Given the description of an element on the screen output the (x, y) to click on. 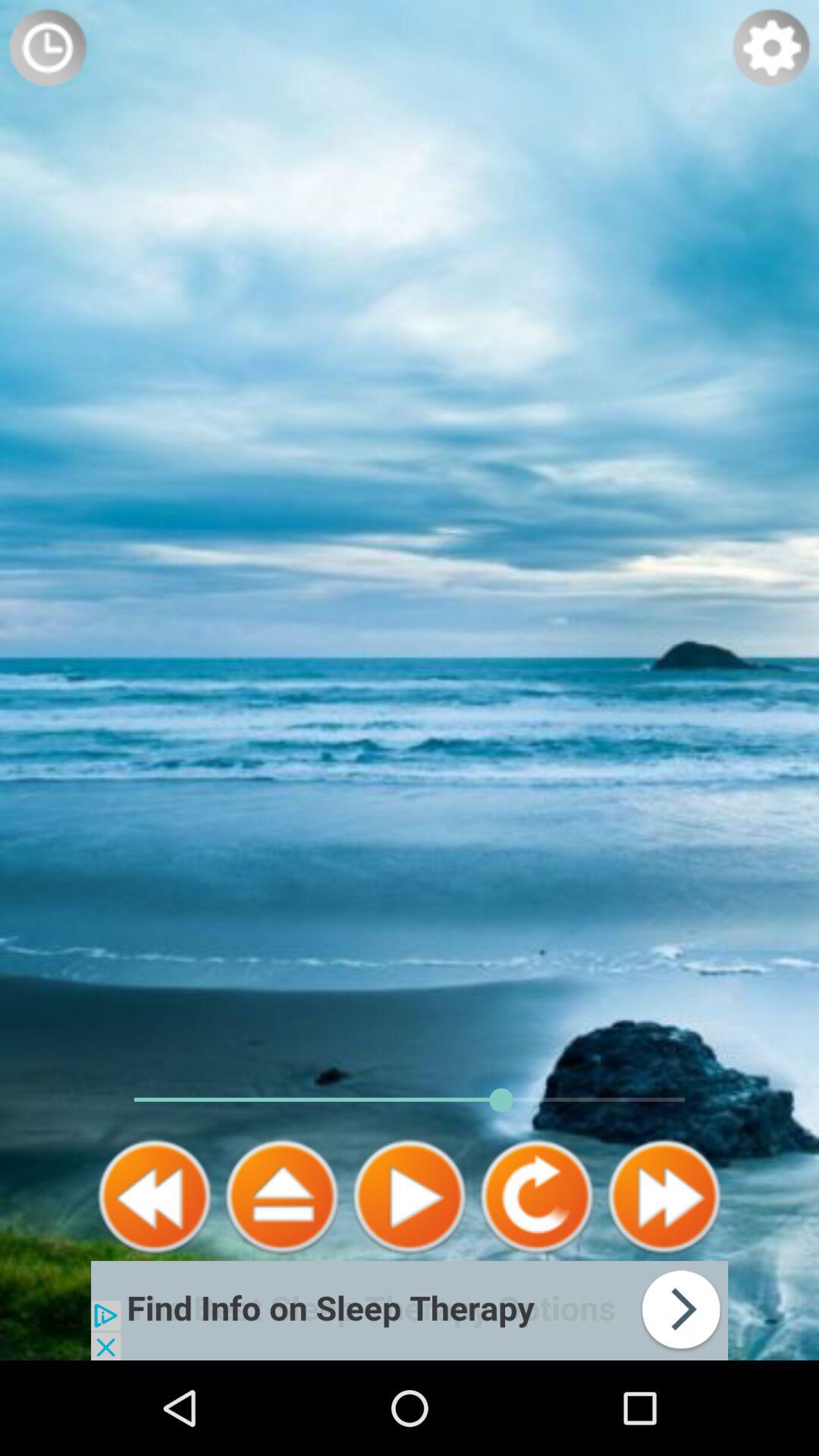
go to app settings (771, 47)
